Given the description of an element on the screen output the (x, y) to click on. 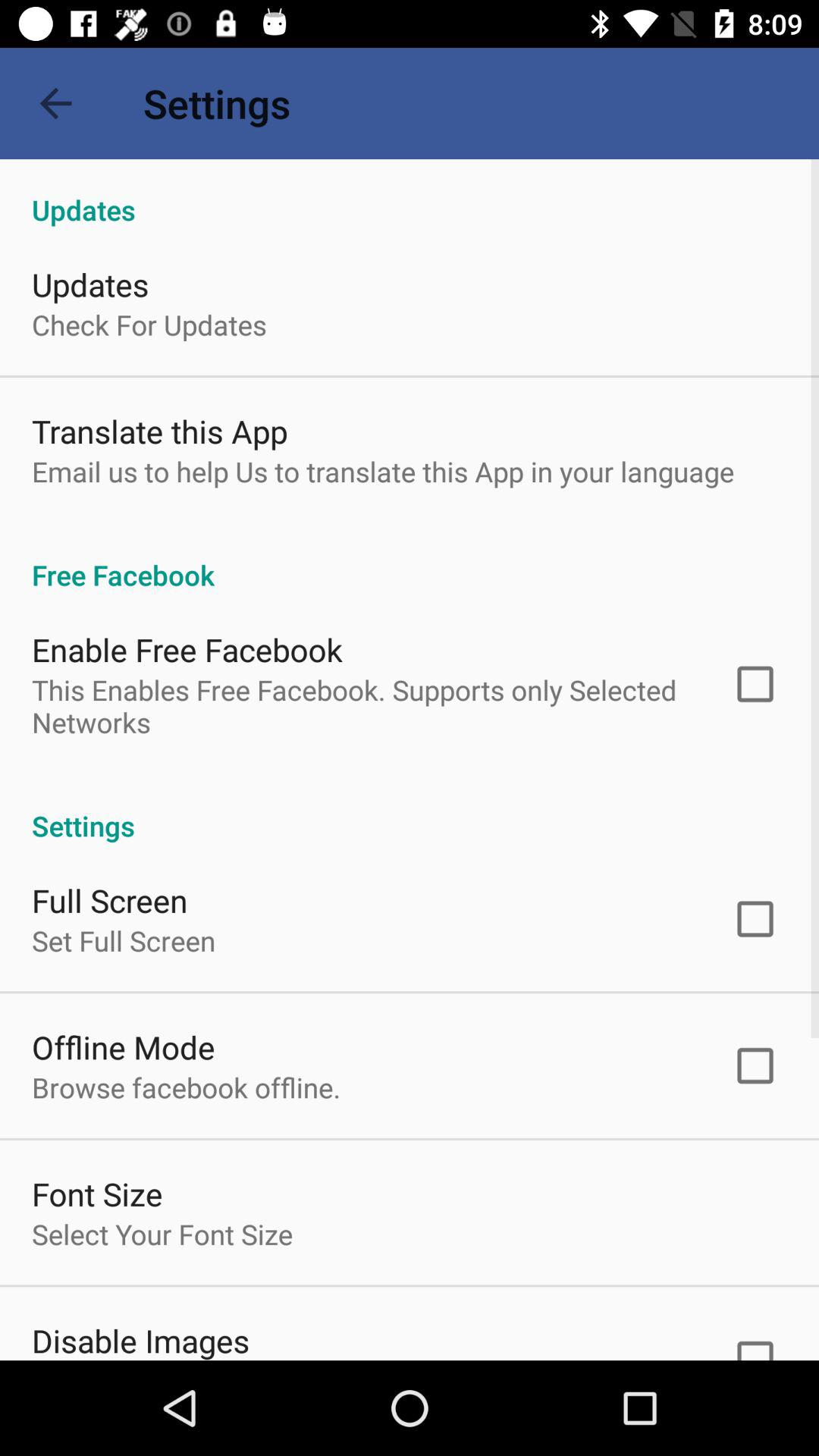
turn on the item above the browse facebook offline. icon (122, 1046)
